Given the description of an element on the screen output the (x, y) to click on. 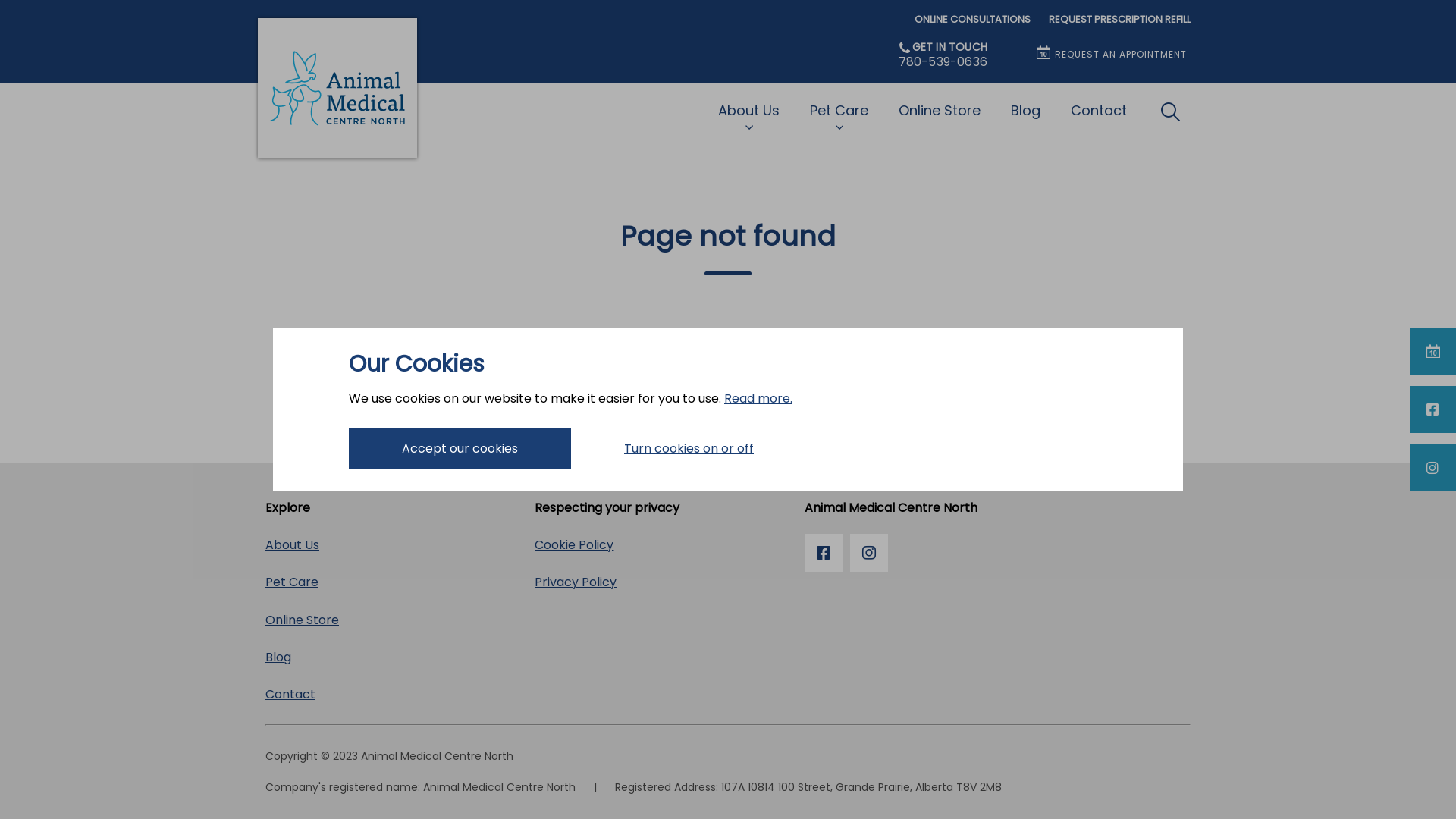
Blog Element type: text (1025, 110)
Contact Element type: text (1098, 110)
Online Store Element type: text (307, 619)
Cookie Policy Element type: text (579, 544)
Animal Medical Centre North's homepage Element type: text (337, 88)
Online Store Element type: text (939, 110)
Blog Element type: text (283, 656)
Pet Care Element type: text (838, 111)
About Us Element type: text (748, 111)
Pet Care Element type: text (297, 581)
Read more. Element type: text (758, 398)
Privacy Policy Element type: text (580, 581)
ONLINE CONSULTATIONS Element type: text (972, 19)
REQUEST PRESCRIPTION REFILL Element type: text (1119, 19)
IvcPractices.HeaderNav.Search.Toggle.Button.Aria Element type: text (1170, 111)
Turn cookies on or off Element type: text (688, 448)
About Us Element type: text (297, 544)
REQUEST AN APPOINTMENT Element type: text (1111, 54)
Accept our cookies Element type: text (459, 448)
Contact Element type: text (295, 693)
